Given the description of an element on the screen output the (x, y) to click on. 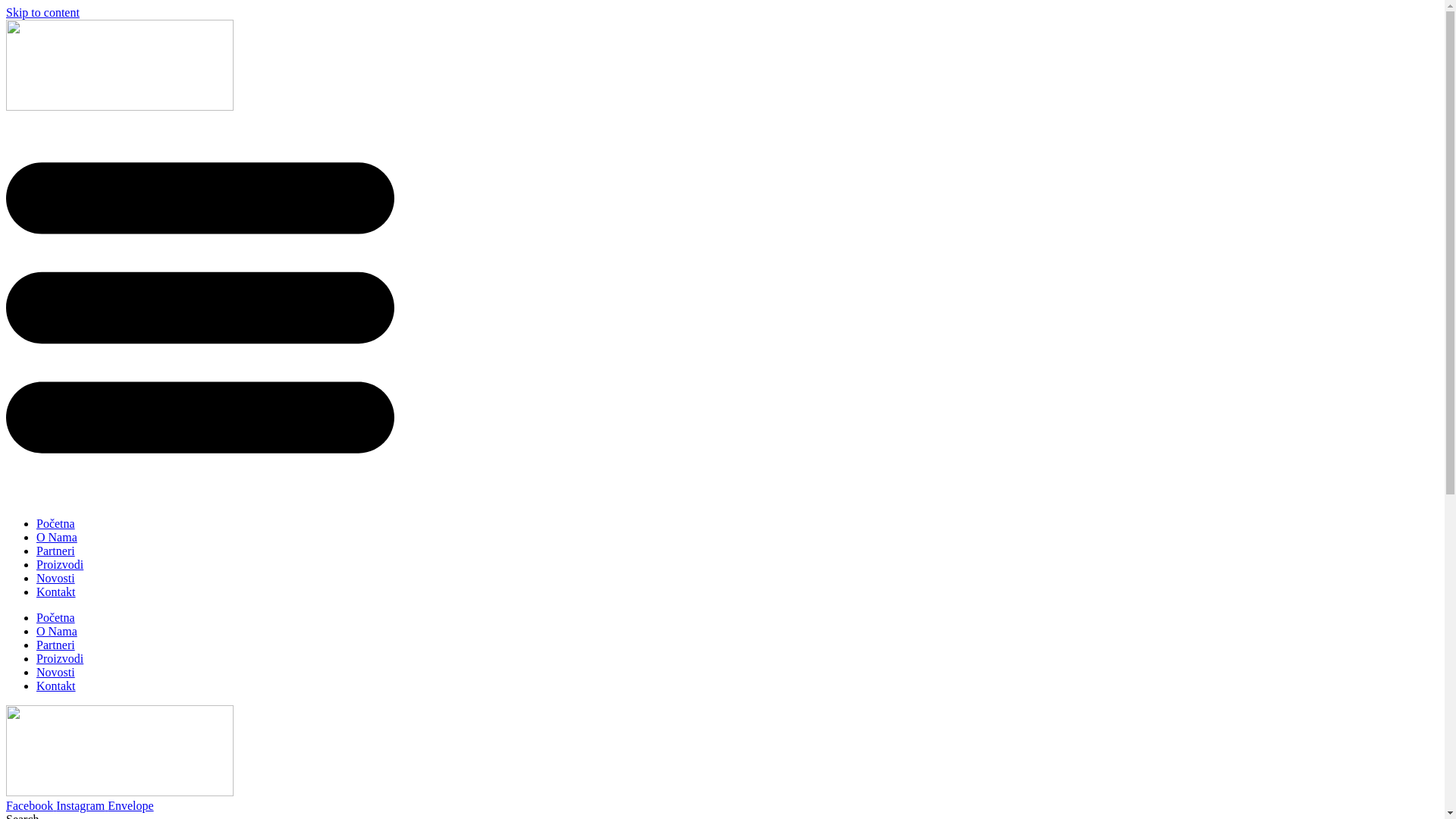
Facebook Element type: text (31, 805)
Partneri Element type: text (55, 550)
Skip to content Element type: text (42, 12)
Kontakt Element type: text (55, 685)
Novosti Element type: text (55, 577)
Instagram Element type: text (81, 805)
Envelope Element type: text (130, 805)
Proizvodi Element type: text (59, 564)
Novosti Element type: text (55, 671)
Proizvodi Element type: text (59, 658)
Kontakt Element type: text (55, 591)
Partneri Element type: text (55, 644)
O Nama Element type: text (56, 630)
O Nama Element type: text (56, 536)
